Given the description of an element on the screen output the (x, y) to click on. 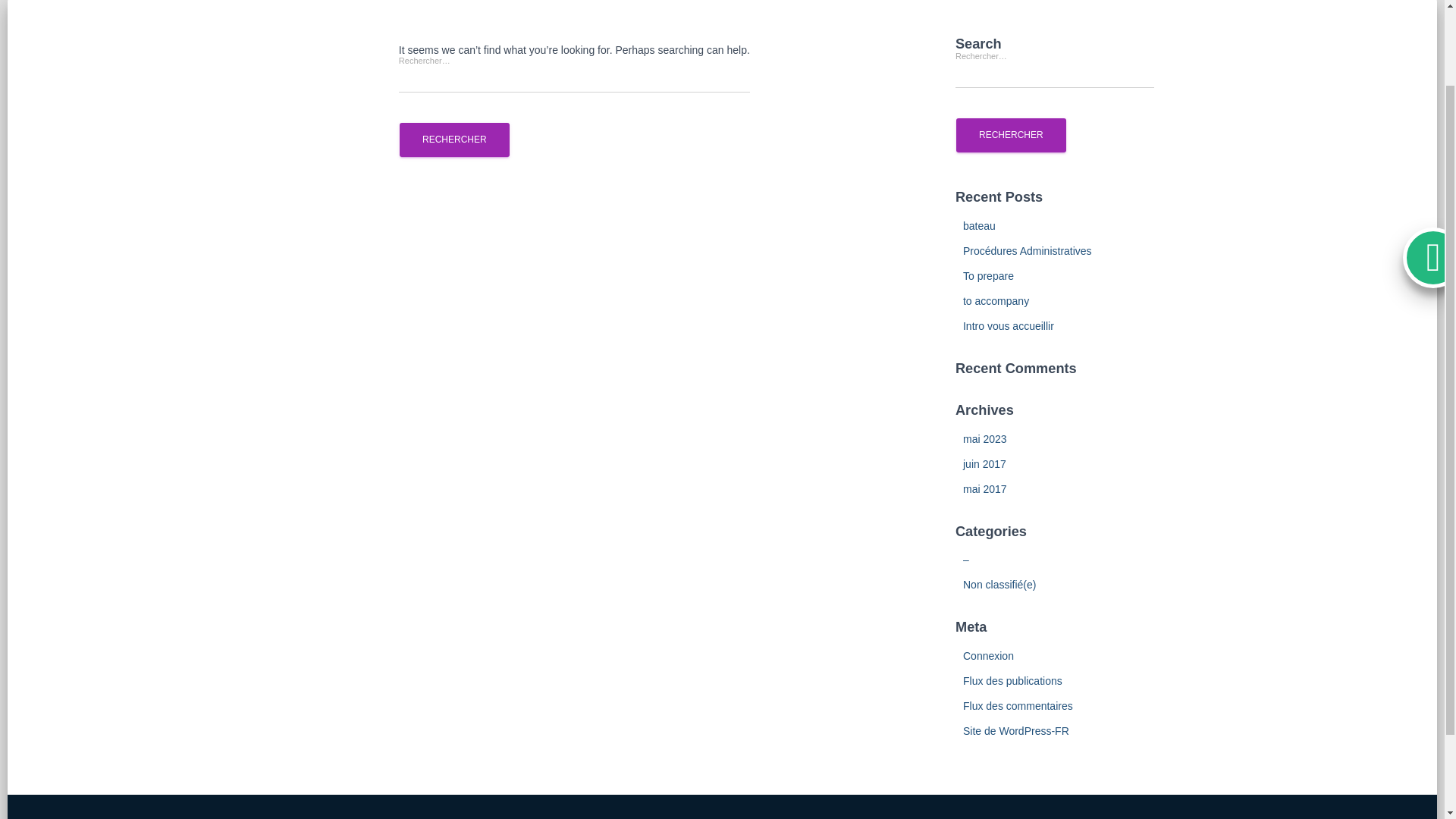
to accompany (995, 300)
Connexion (987, 655)
Rechercher (453, 139)
To prepare (987, 275)
mai 2017 (984, 489)
Rechercher (453, 139)
bateau (978, 225)
mai 2023 (984, 439)
Flux des publications (1012, 680)
Rechercher (1010, 134)
Flux des commentaires (1017, 705)
juin 2017 (984, 463)
Site de WordPress-FR (1015, 730)
Rechercher (453, 139)
Rechercher (1010, 134)
